Given the description of an element on the screen output the (x, y) to click on. 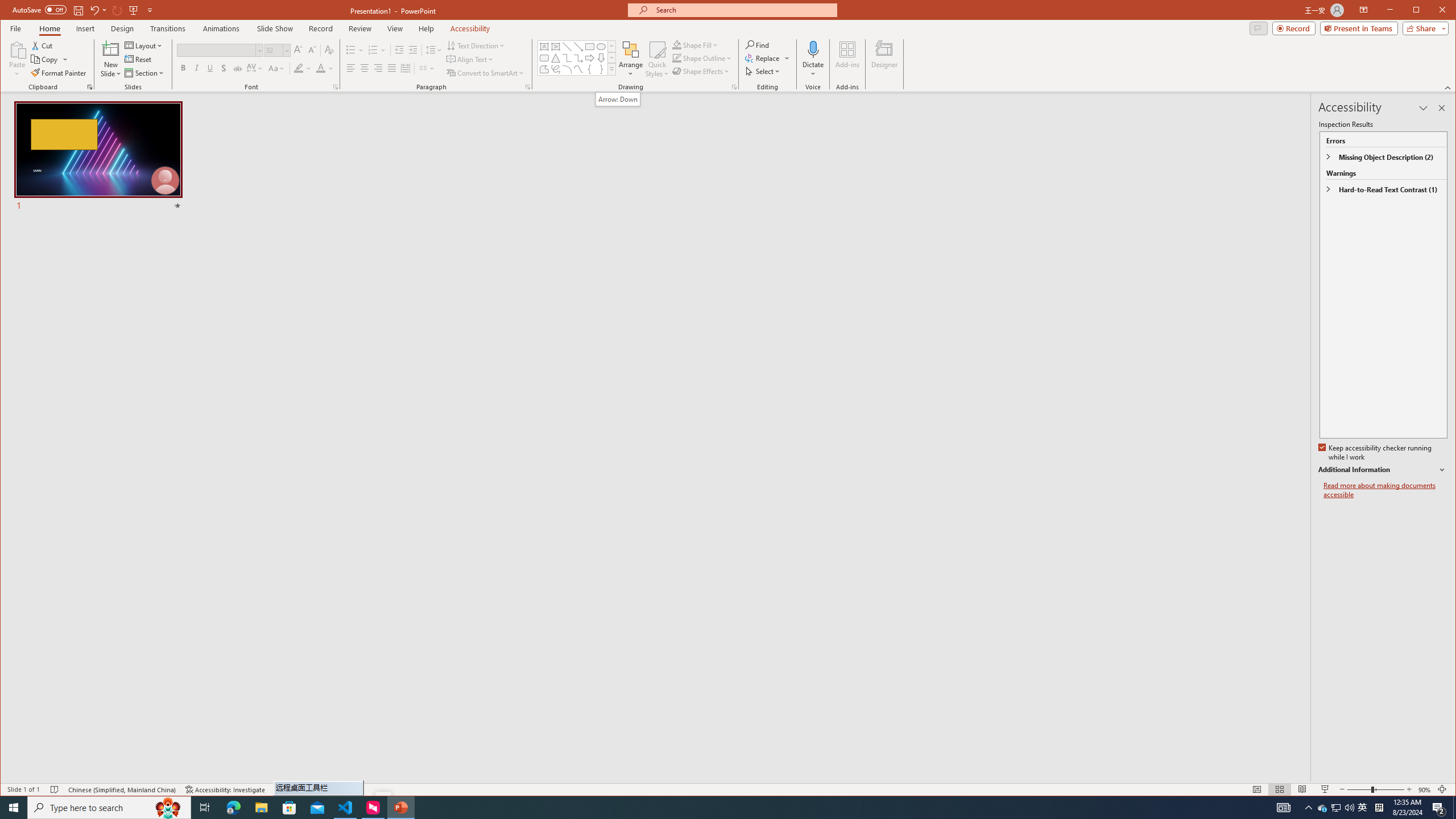
Strikethrough (237, 68)
Distributed (405, 68)
Columns (426, 68)
Running applications (700, 807)
